Given the description of an element on the screen output the (x, y) to click on. 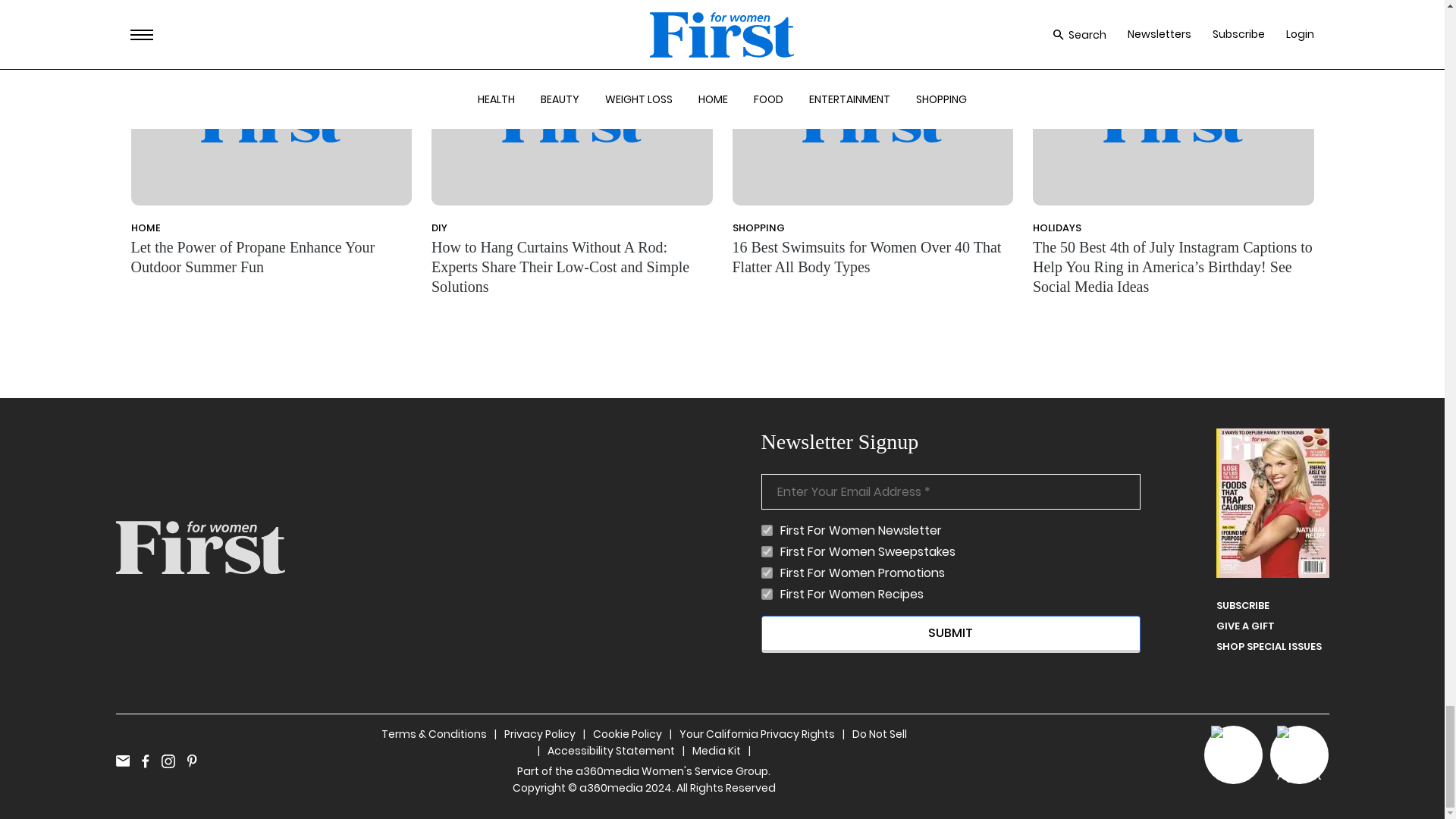
1 (767, 530)
1 (767, 572)
1 (767, 593)
1 (767, 551)
